Given the description of an element on the screen output the (x, y) to click on. 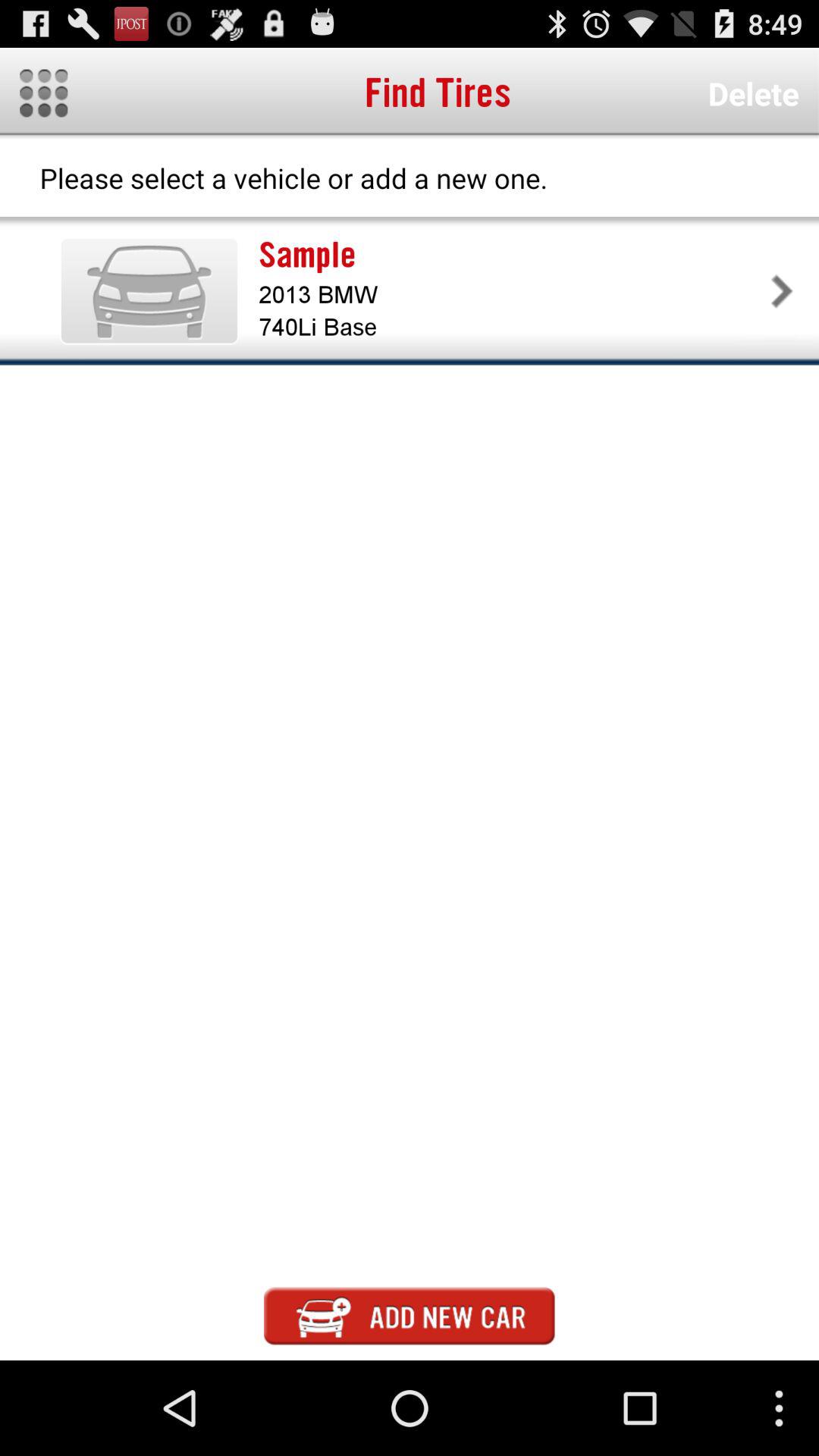
tap 740li base app (511, 327)
